Given the description of an element on the screen output the (x, y) to click on. 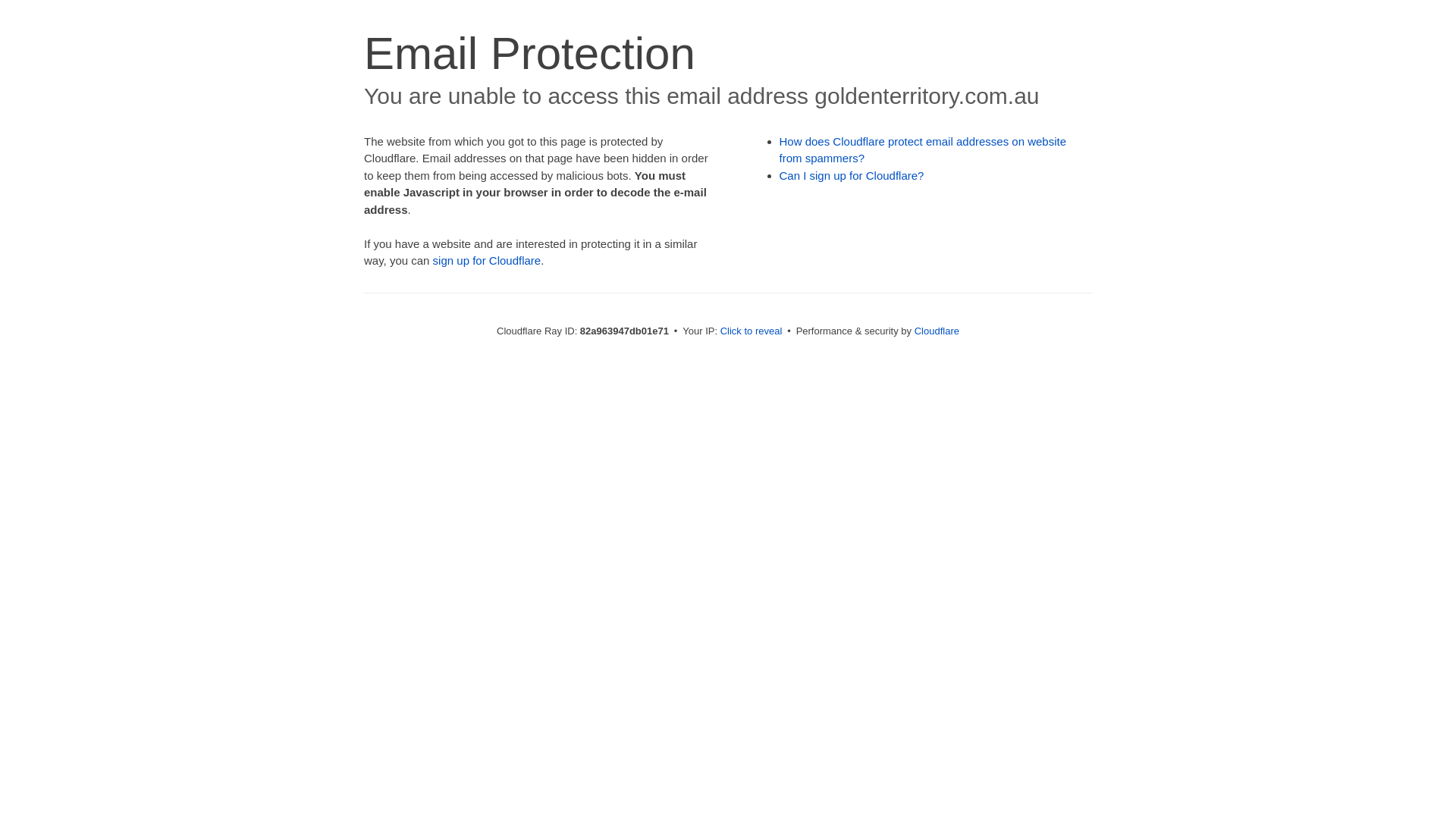
sign up for Cloudflare Element type: text (487, 260)
Click to reveal Element type: text (751, 330)
Can I sign up for Cloudflare? Element type: text (851, 175)
Cloudflare Element type: text (936, 330)
